Given the description of an element on the screen output the (x, y) to click on. 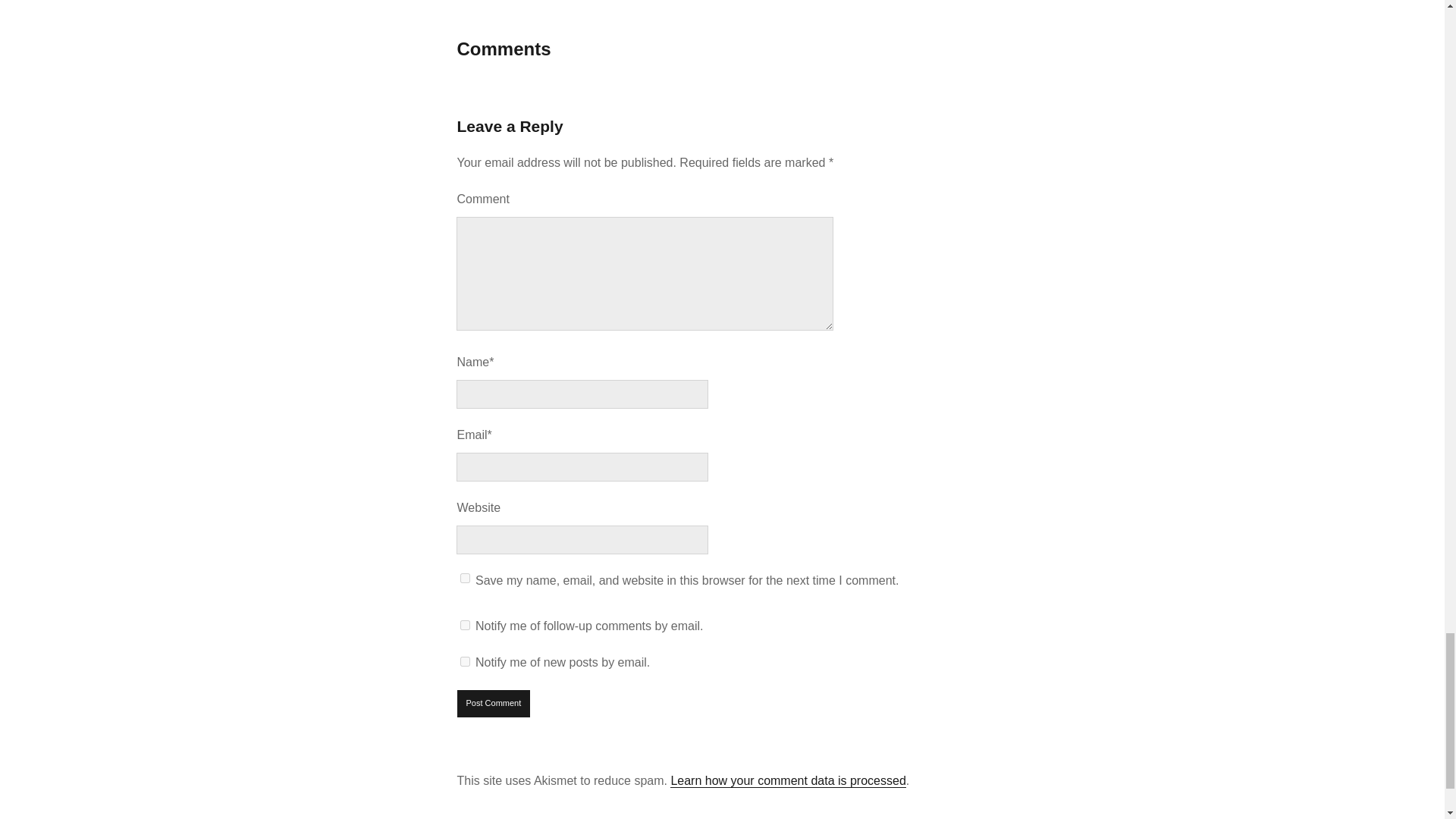
subscribe (465, 661)
subscribe (465, 624)
Post Comment (494, 703)
yes (465, 578)
